Given the description of an element on the screen output the (x, y) to click on. 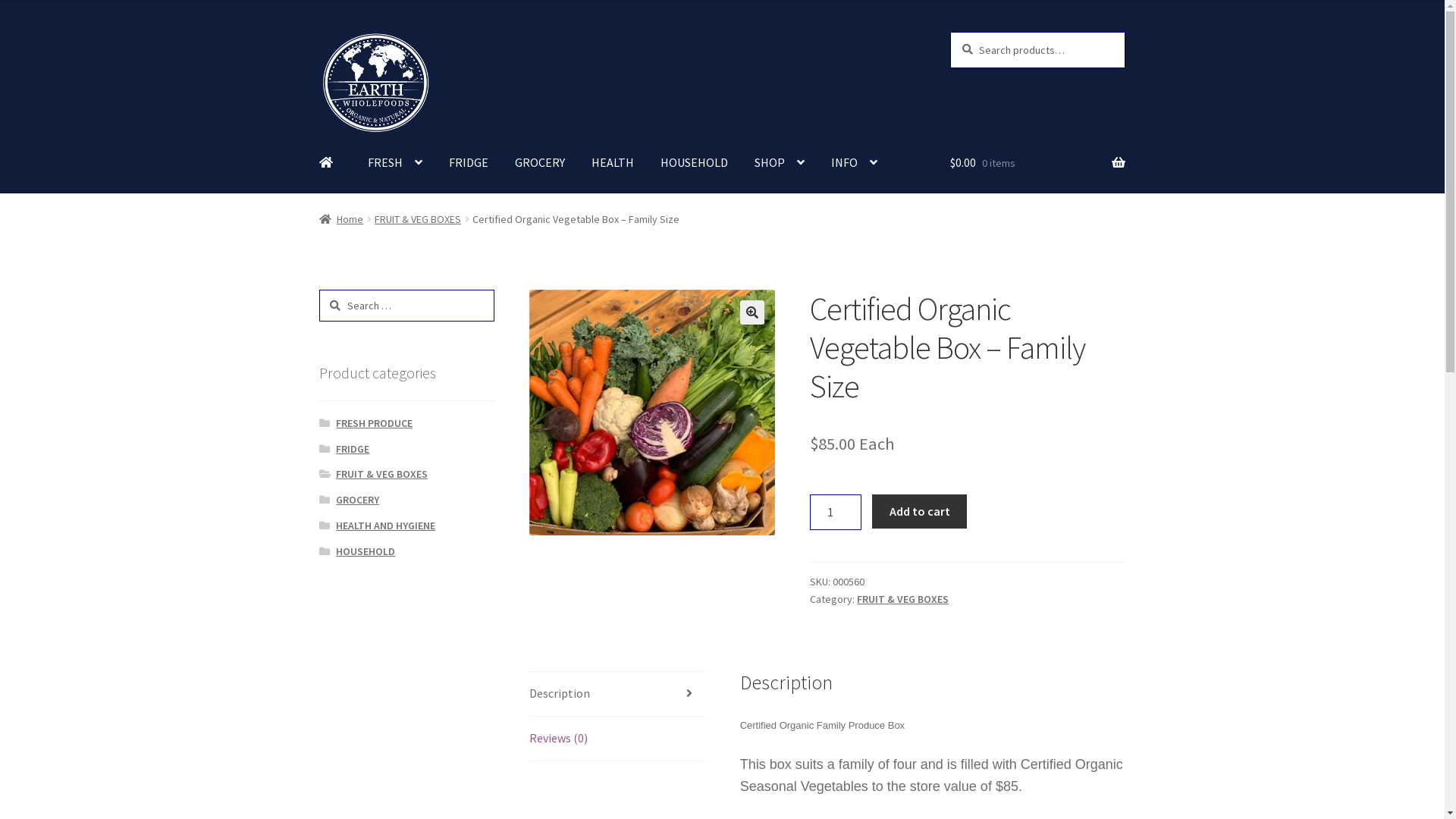
HEALTH AND HYGIENE Element type: text (385, 525)
FRESH Element type: text (394, 163)
Description Element type: text (616, 693)
FRUIT & VEG BOXES Element type: text (417, 218)
  Element type: text (330, 163)
HEALTH Element type: text (612, 163)
GROCERY Element type: text (539, 163)
Reviews (0) Element type: text (616, 738)
FRUIT & VEG BOXES Element type: text (381, 473)
Add to cart Element type: text (919, 511)
GROCERY Element type: text (357, 499)
Skip to navigation Element type: text (318, 31)
SHOP Element type: text (779, 163)
INFO Element type: text (854, 163)
HOUSEHOLD Element type: text (365, 551)
1115_600_x_600webonly_IMG_8594_1_Family Element type: hover (652, 412)
FRESH PRODUCE Element type: text (373, 422)
FRUIT & VEG BOXES Element type: text (902, 598)
$0.00 0 items Element type: text (1037, 163)
FRIDGE Element type: text (468, 163)
FRIDGE Element type: text (352, 448)
Search Element type: text (318, 288)
Search Element type: text (949, 31)
Home Element type: text (341, 218)
HOUSEHOLD Element type: text (694, 163)
Qty Element type: hover (835, 512)
